Given the description of an element on the screen output the (x, y) to click on. 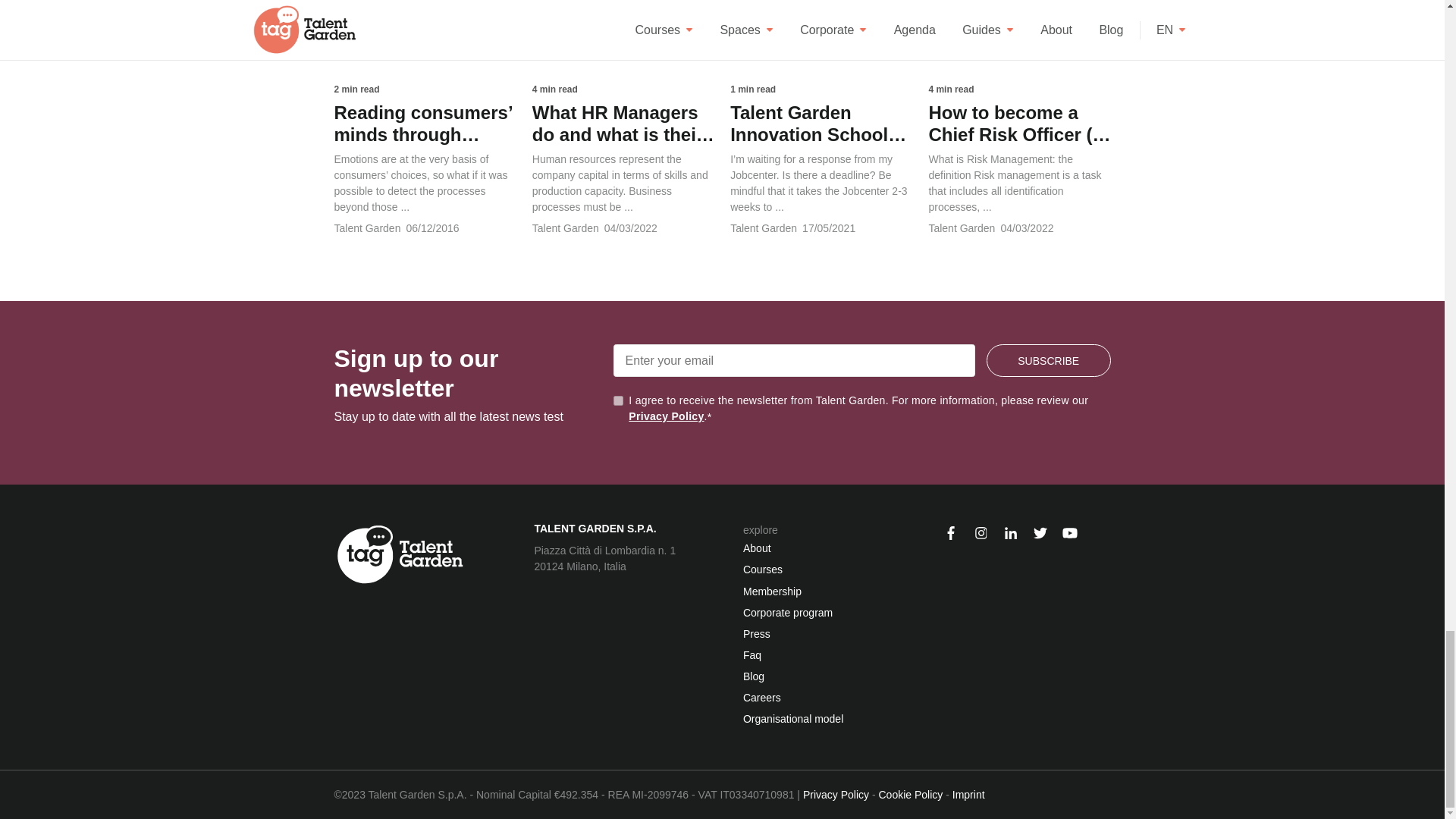
true (617, 400)
Subscribe (1048, 359)
